Given the description of an element on the screen output the (x, y) to click on. 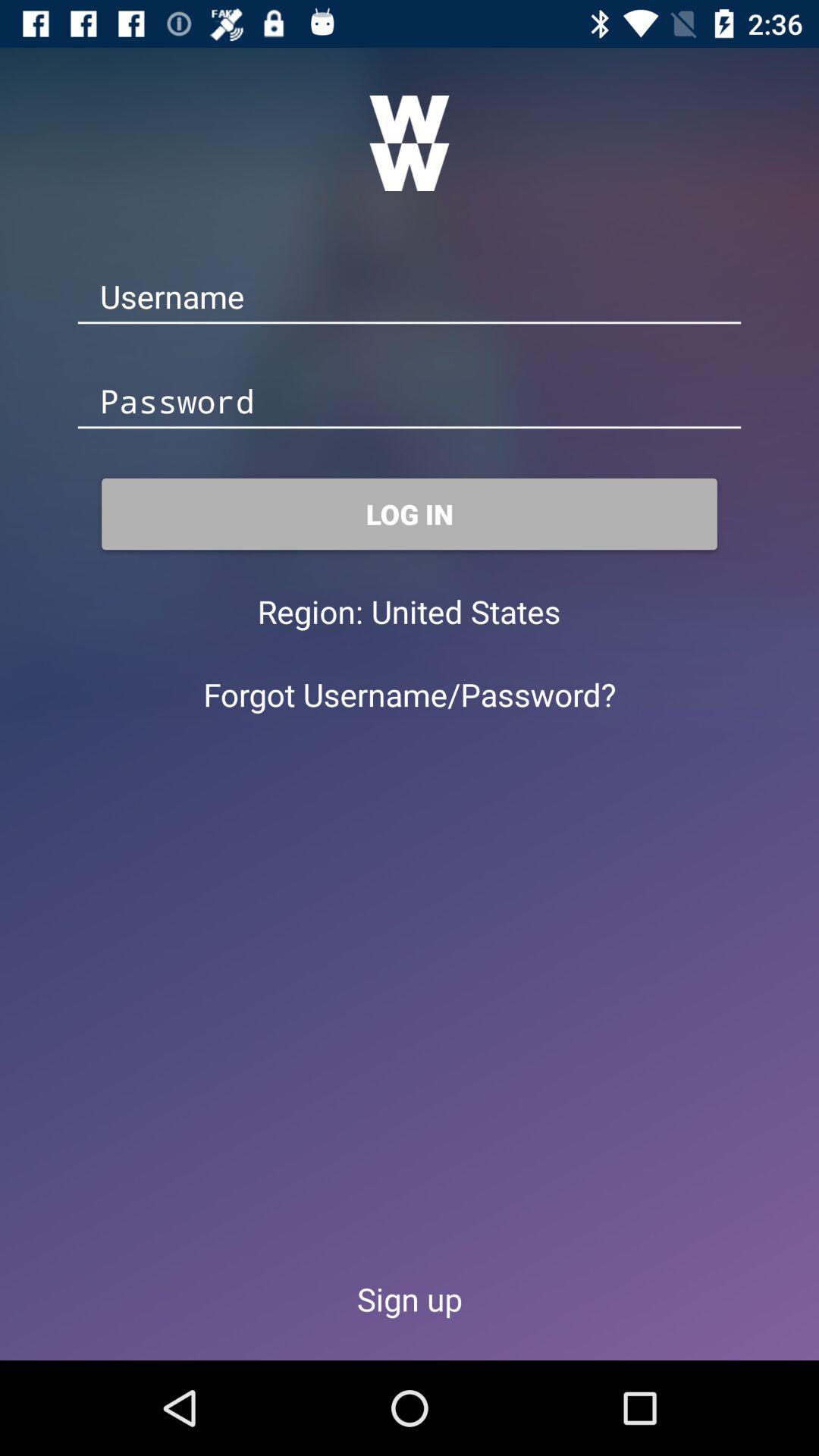
turn off the item below log in icon (465, 611)
